Given the description of an element on the screen output the (x, y) to click on. 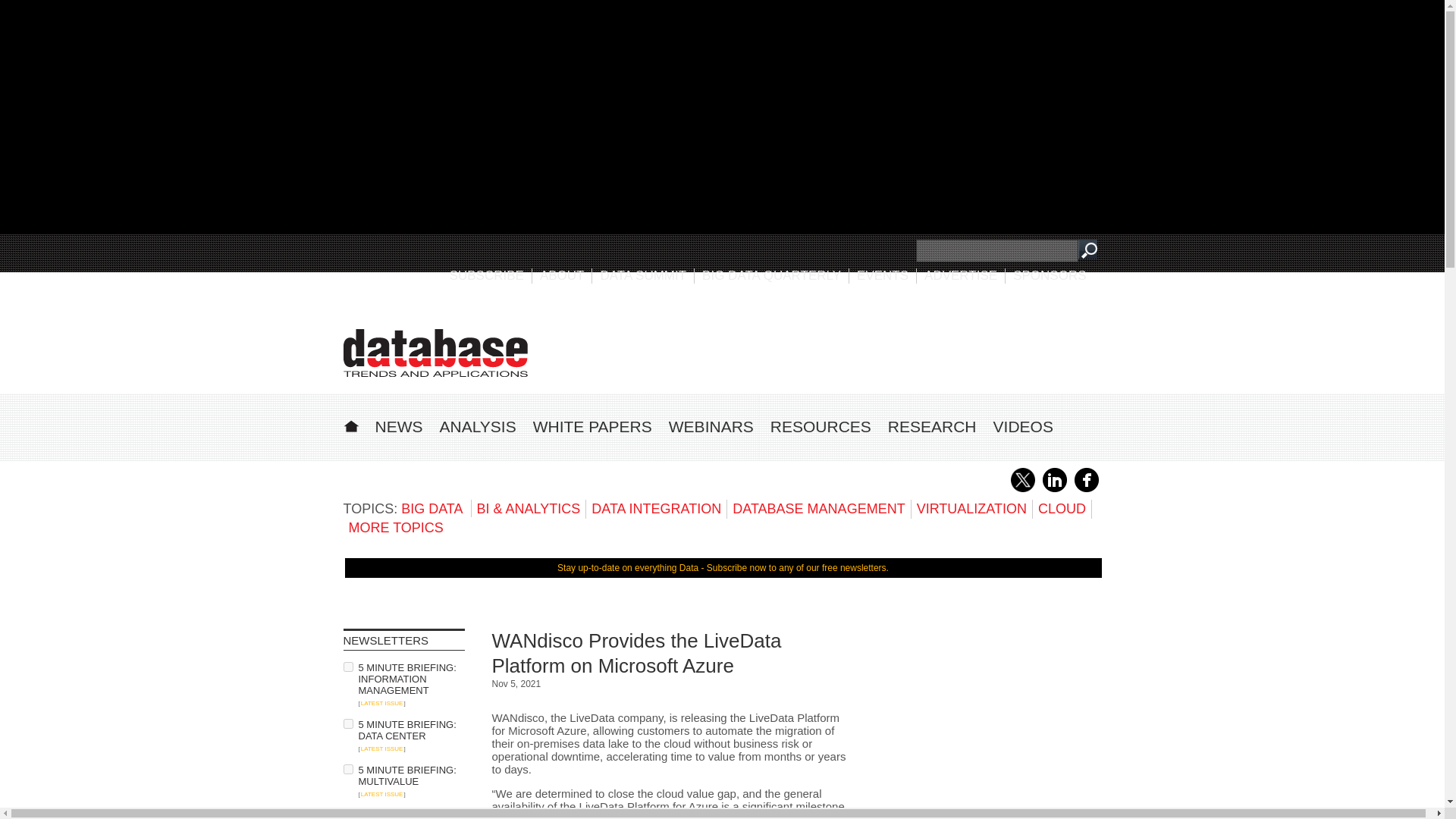
DATA SUMMIT (642, 275)
on (347, 723)
on (347, 666)
on (347, 814)
ABOUT (562, 275)
SUBSCRIBE (486, 275)
3rd party ad content (824, 347)
ANALYSIS (477, 425)
DBTA (434, 352)
HOME (350, 424)
RESOURCES (820, 425)
3rd party ad content (986, 723)
WEBINARS (711, 425)
WHITE PAPERS (592, 425)
DBTA on Twitter (1021, 489)
